Given the description of an element on the screen output the (x, y) to click on. 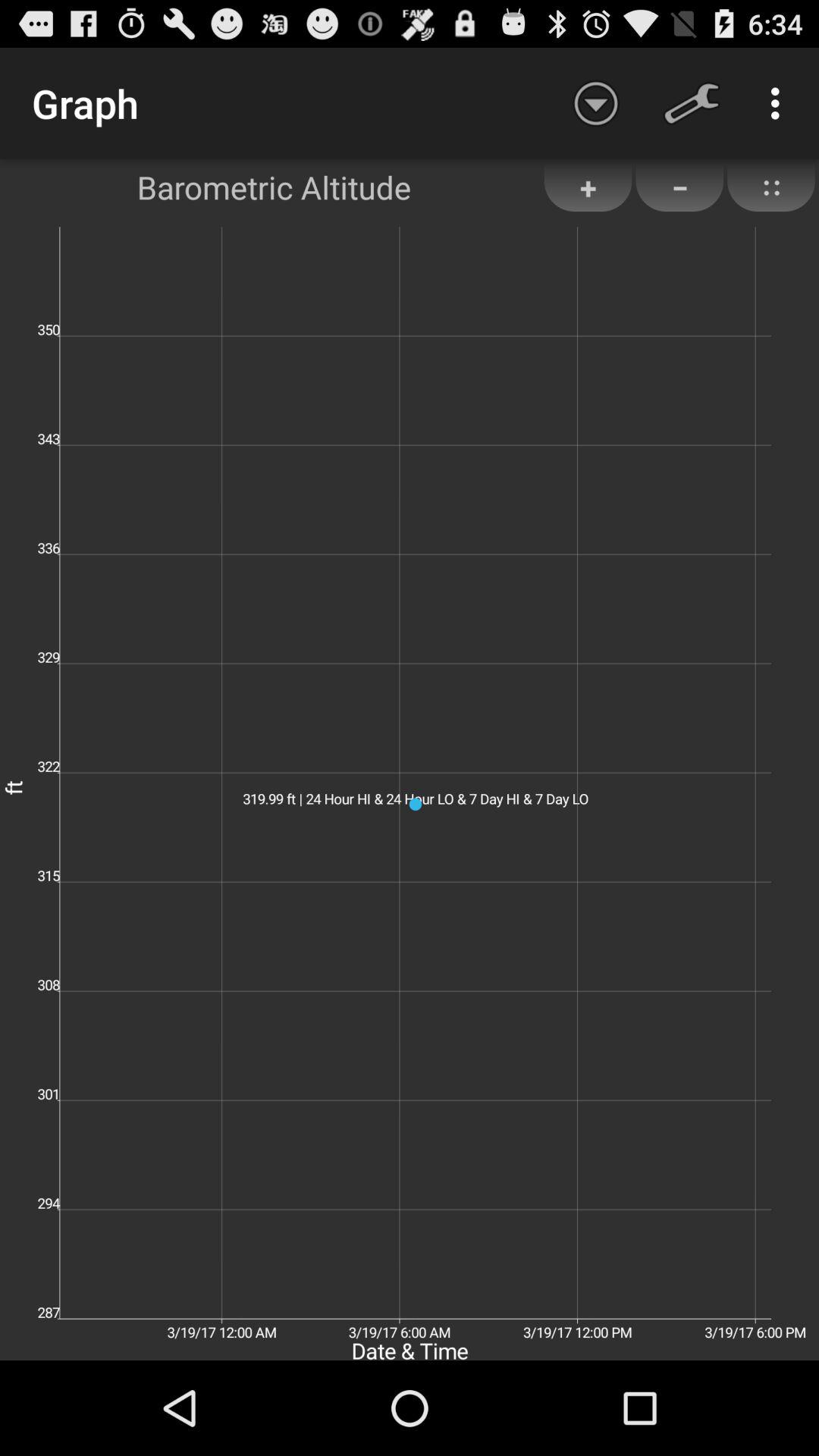
choose the + icon (587, 187)
